Given the description of an element on the screen output the (x, y) to click on. 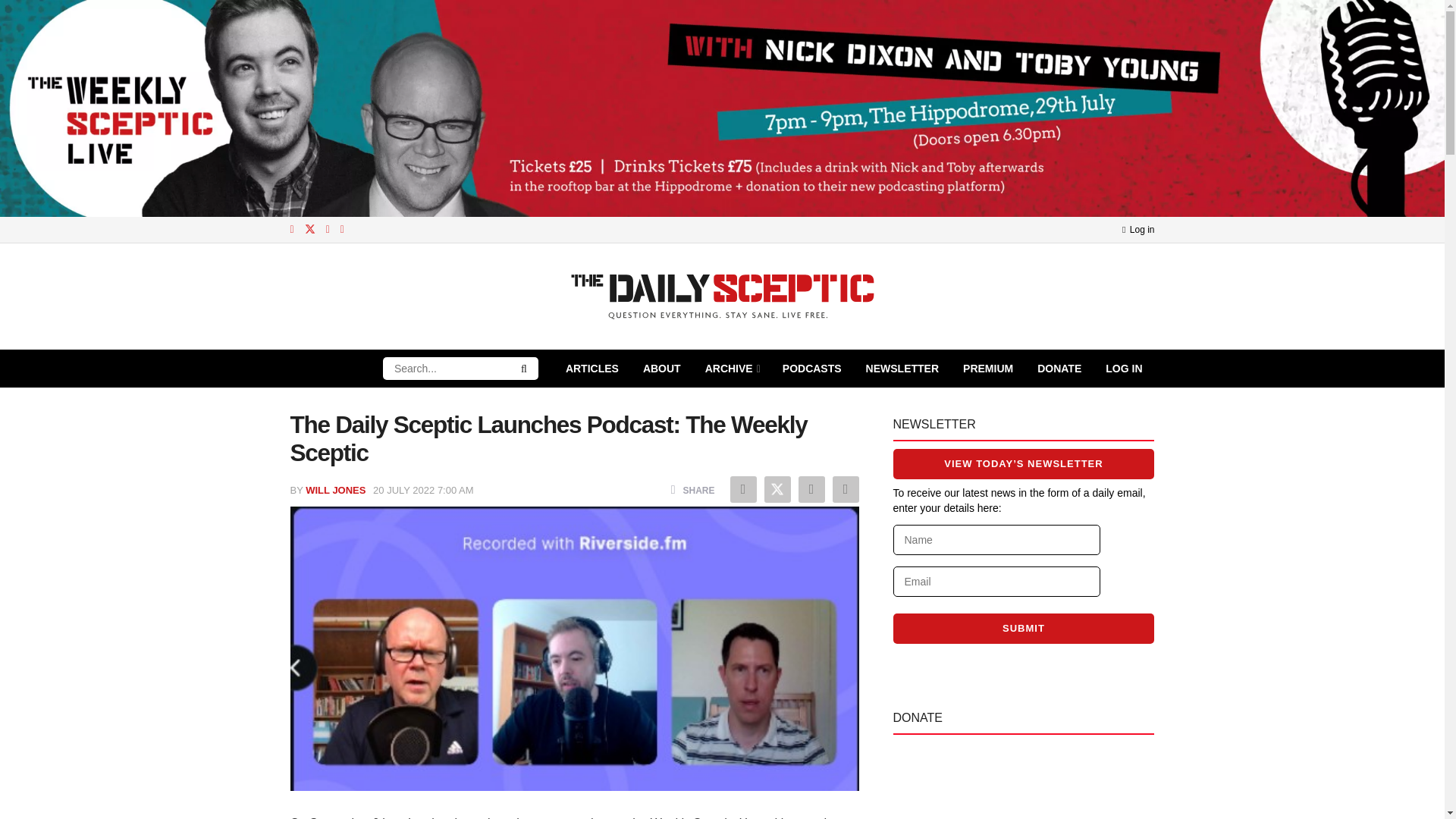
ABOUT (661, 368)
Log in (1138, 229)
20 JULY 2022 7:00 AM (423, 490)
ARTICLES (591, 368)
ARCHIVE (731, 368)
PODCASTS (811, 368)
WILL JONES (335, 490)
NEWSLETTER (901, 368)
DONATE (1059, 368)
PREMIUM (987, 368)
LOG IN (1123, 368)
